Given the description of an element on the screen output the (x, y) to click on. 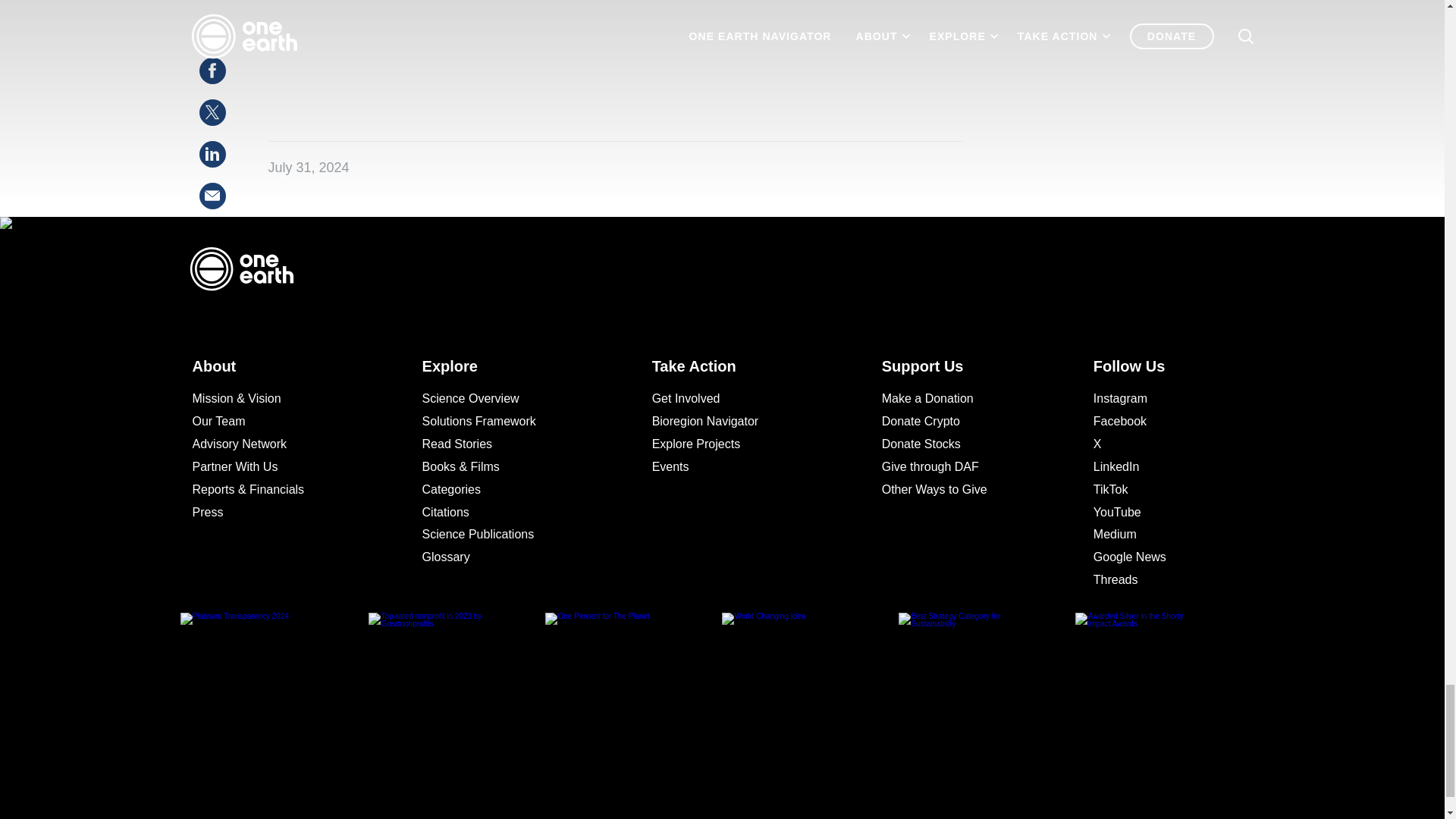
Follow us on Medium (1163, 534)
Follow us on Threads (1163, 579)
Platinum Transparency 2024 (280, 707)
Follow us on YouTube (1163, 512)
One Percent for The Planet (633, 707)
Top-rated nonprofit in 2023 by Greatnonprofits (456, 707)
Follow us on LinkedIn (1163, 466)
Follow us on TikTok (1163, 489)
Follow us on Instagram (1163, 398)
Best Strategy Category for Sustainability (986, 707)
